Given the description of an element on the screen output the (x, y) to click on. 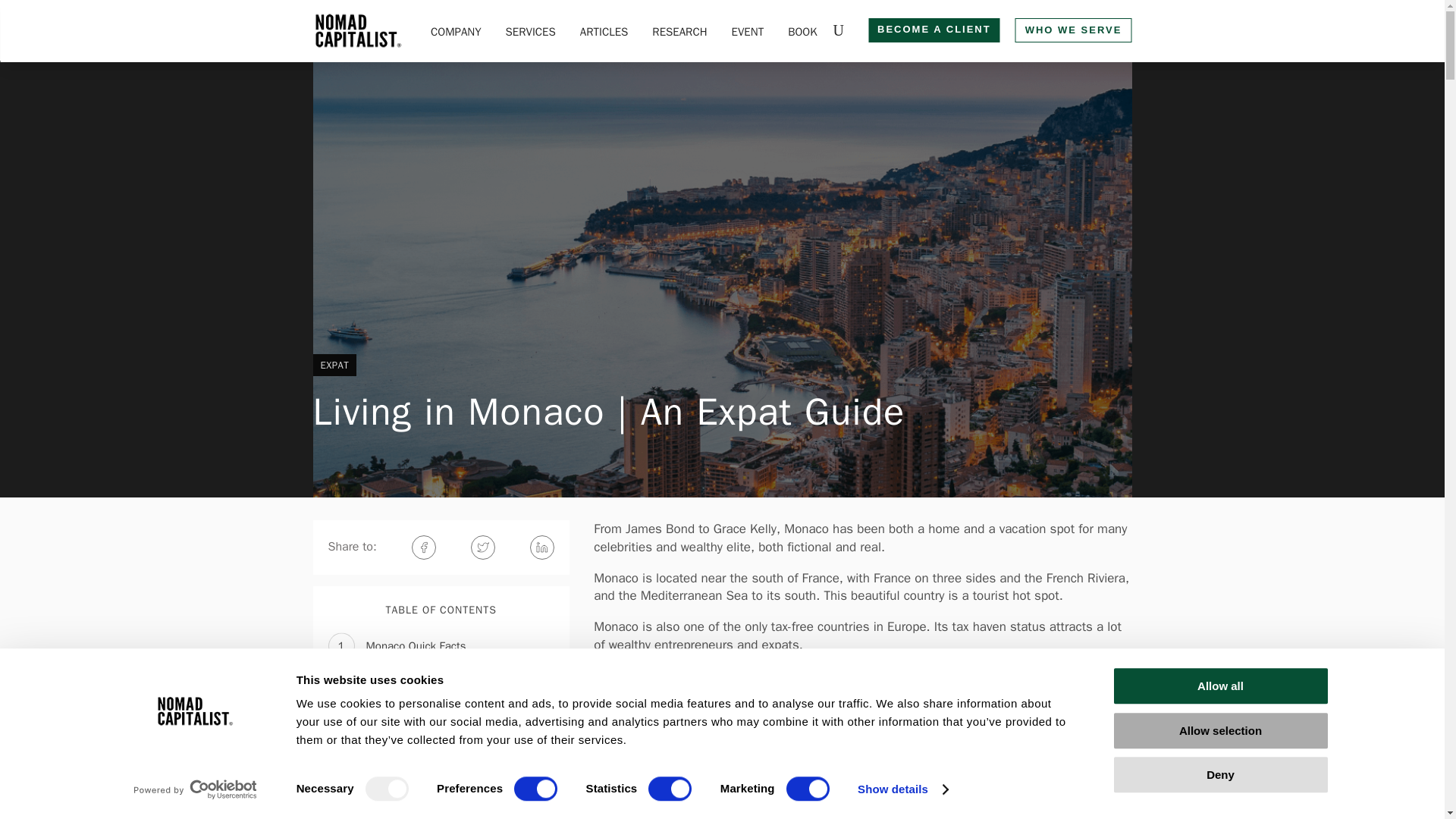
Company (455, 33)
Services (530, 33)
nomad capitalist logo dark (358, 30)
Show details (902, 789)
